Given the description of an element on the screen output the (x, y) to click on. 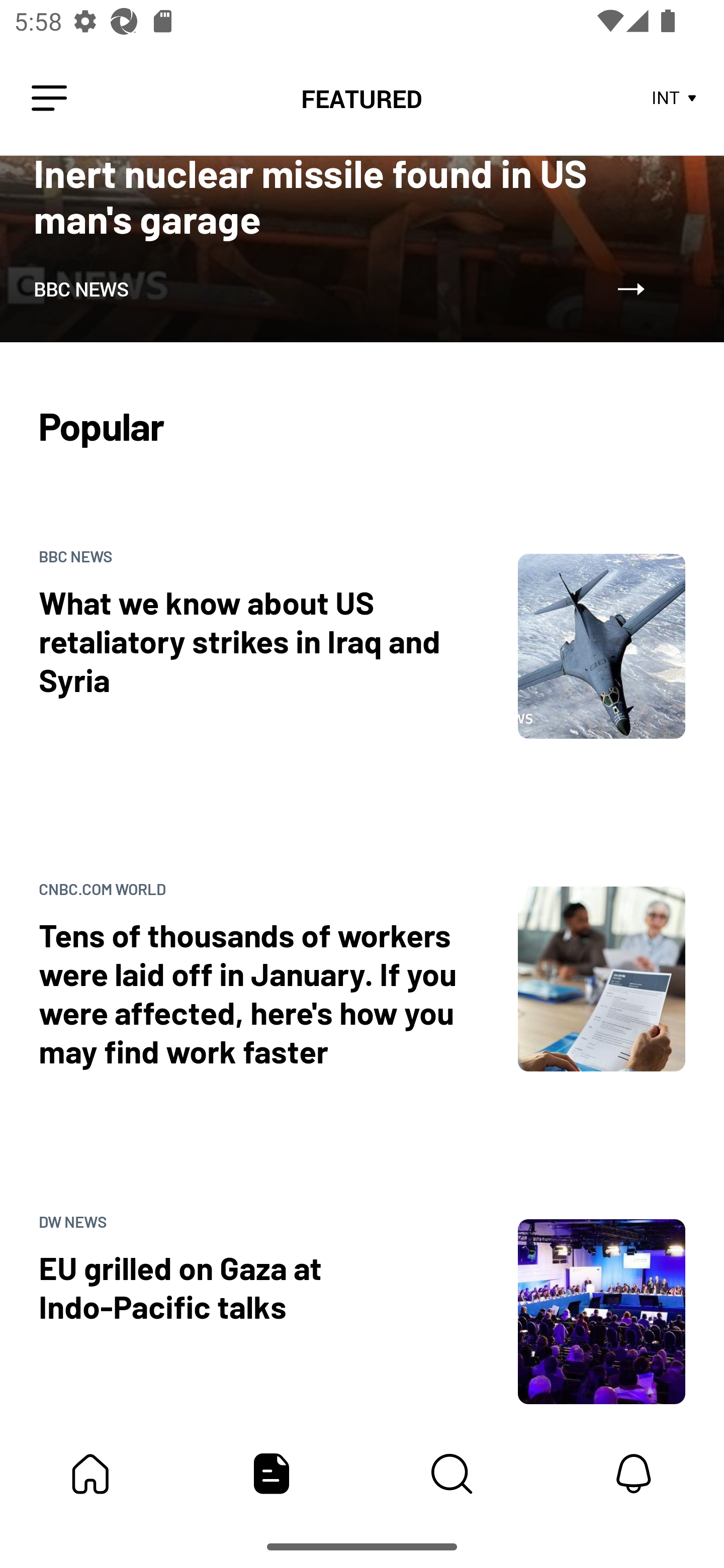
INT Store Area (674, 98)
Leading Icon (49, 98)
My Bundle (90, 1473)
Content Store (452, 1473)
Notifications (633, 1473)
